Given the description of an element on the screen output the (x, y) to click on. 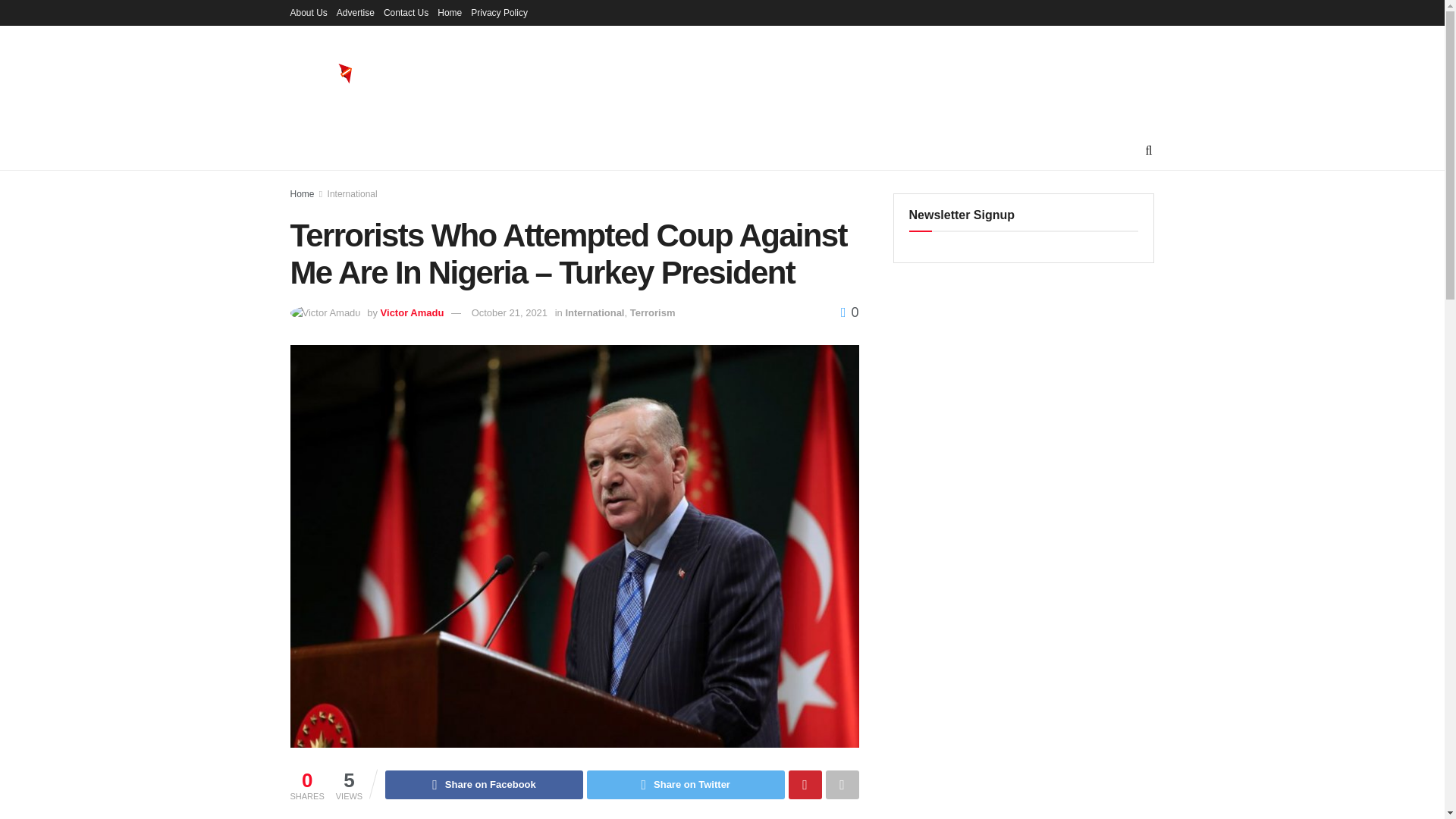
Terrorism (652, 312)
Home (301, 194)
October 21, 2021 (509, 312)
Contact Us (406, 12)
Share on Facebook (484, 784)
0 (850, 312)
Share on Twitter (685, 784)
About Us (307, 12)
Victor Amadu (412, 312)
Privacy Policy (498, 12)
